Given the description of an element on the screen output the (x, y) to click on. 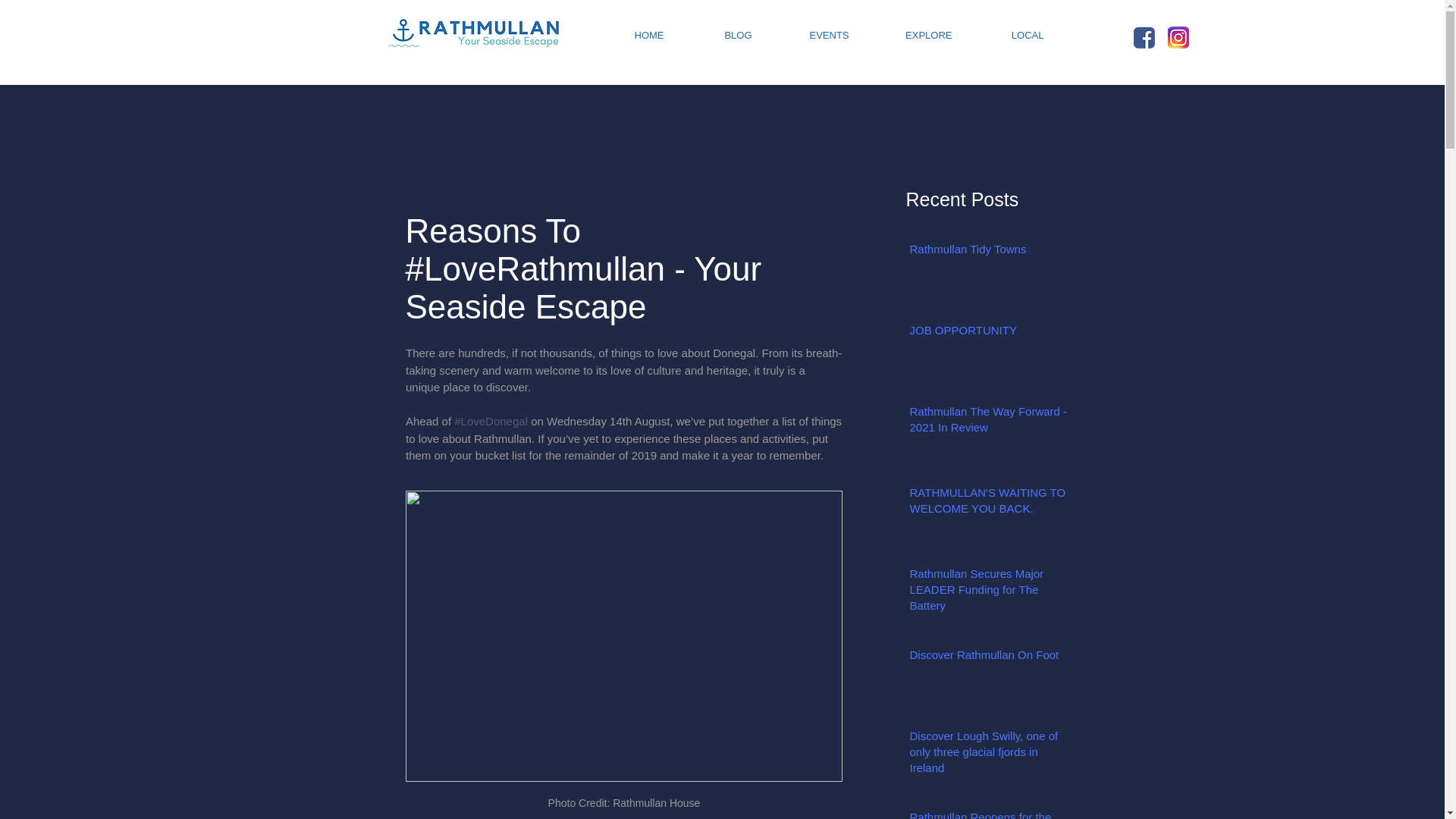
EVENTS (811, 35)
HOME (629, 35)
EXPLORE (911, 35)
LOCAL (1008, 35)
BLOG (718, 35)
